Given the description of an element on the screen output the (x, y) to click on. 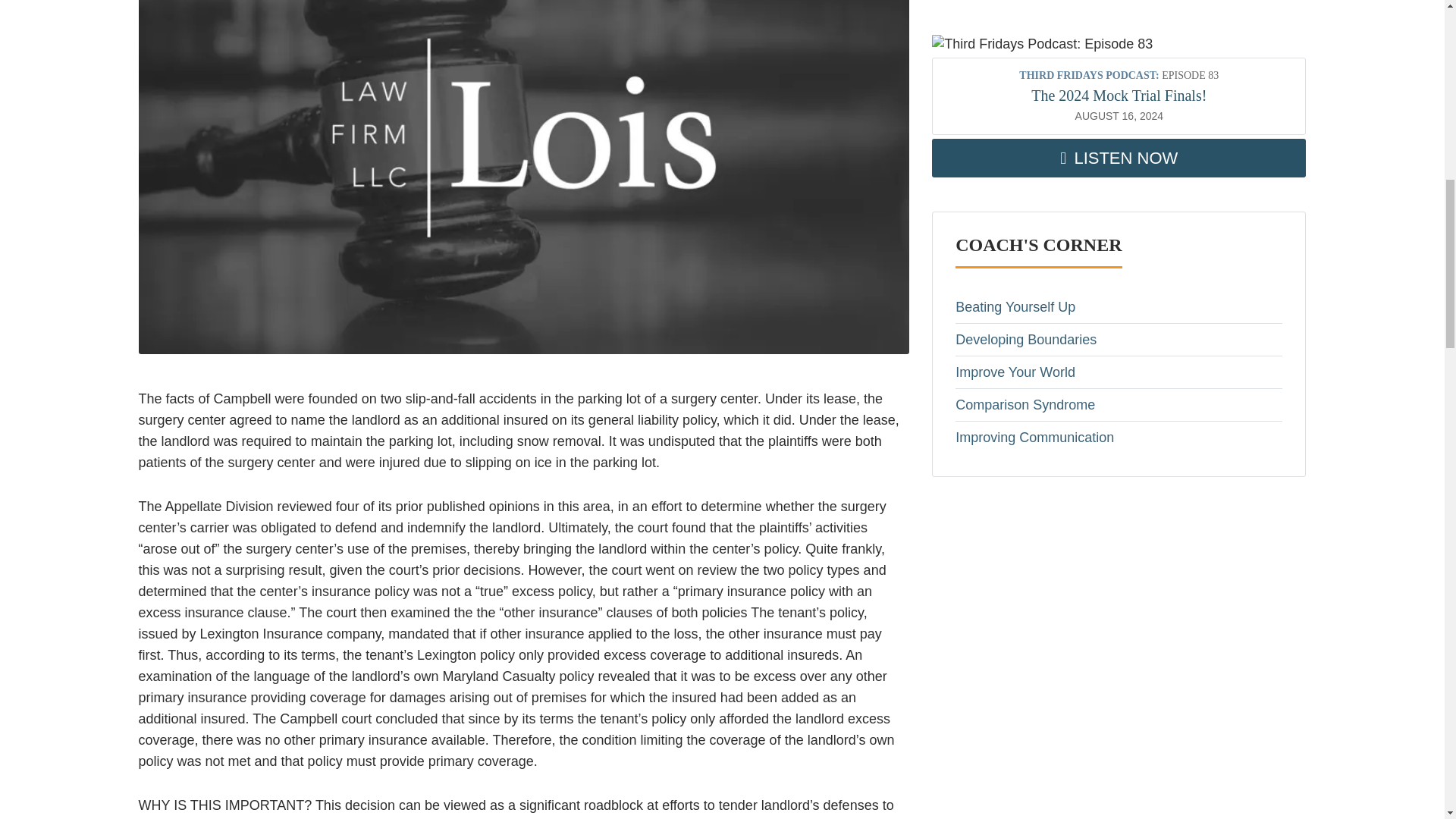
Coach's Corner: Improving Communication (1118, 437)
Third Fridays Podcast: Episode 83 (1042, 44)
Coach's Corner: Comparison Syndrome (1118, 404)
Coach's Corner: Developing Boundaries (1118, 339)
Coach's Corner: Beating Yourself Up (1118, 306)
Coach's Corner: Improve Your World (1118, 372)
